Given the description of an element on the screen output the (x, y) to click on. 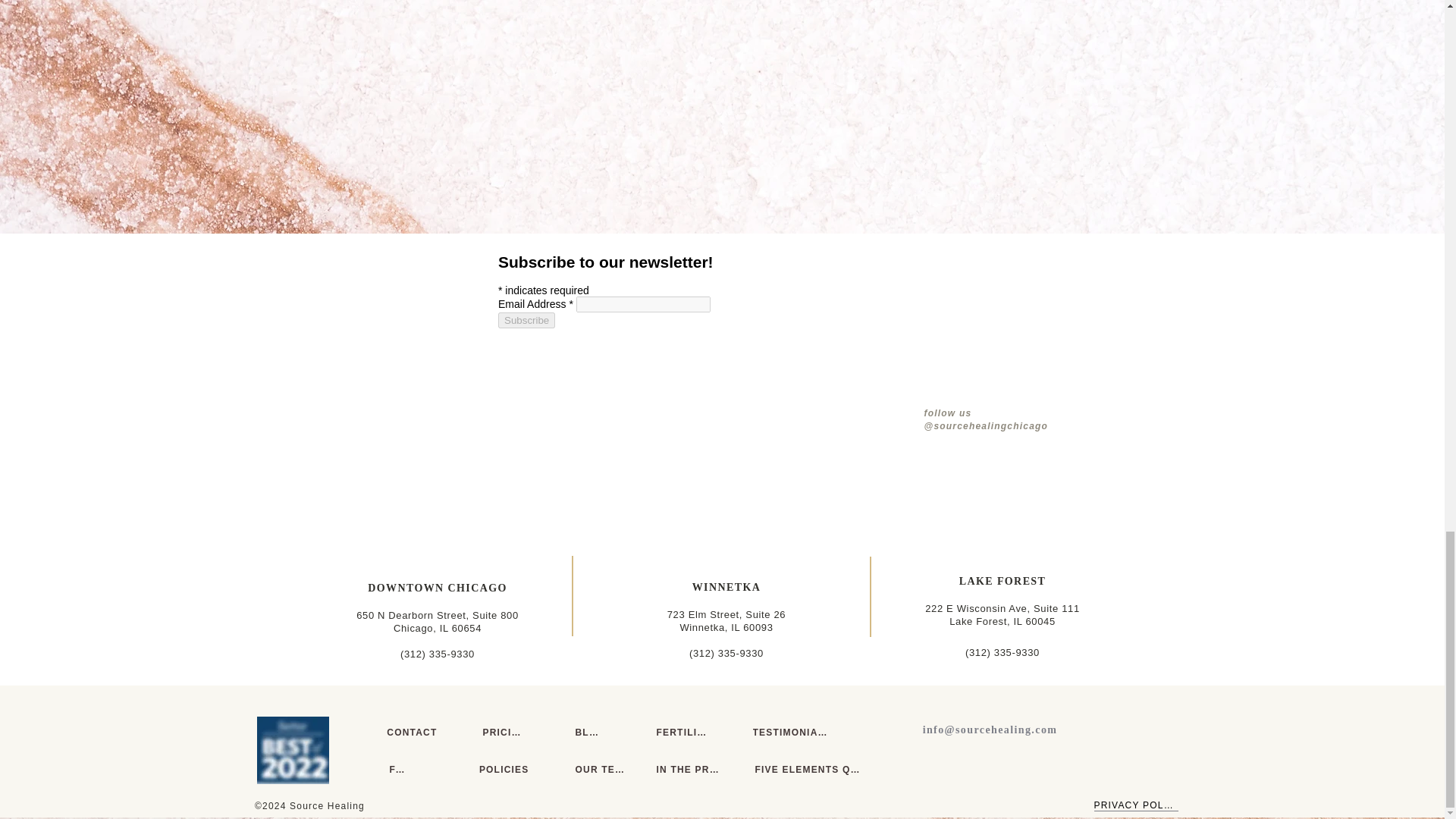
t, IL 60045 (437, 621)
Embedded Content (1029, 621)
222 E Wisconsin (726, 621)
 Ave (725, 329)
